Given the description of an element on the screen output the (x, y) to click on. 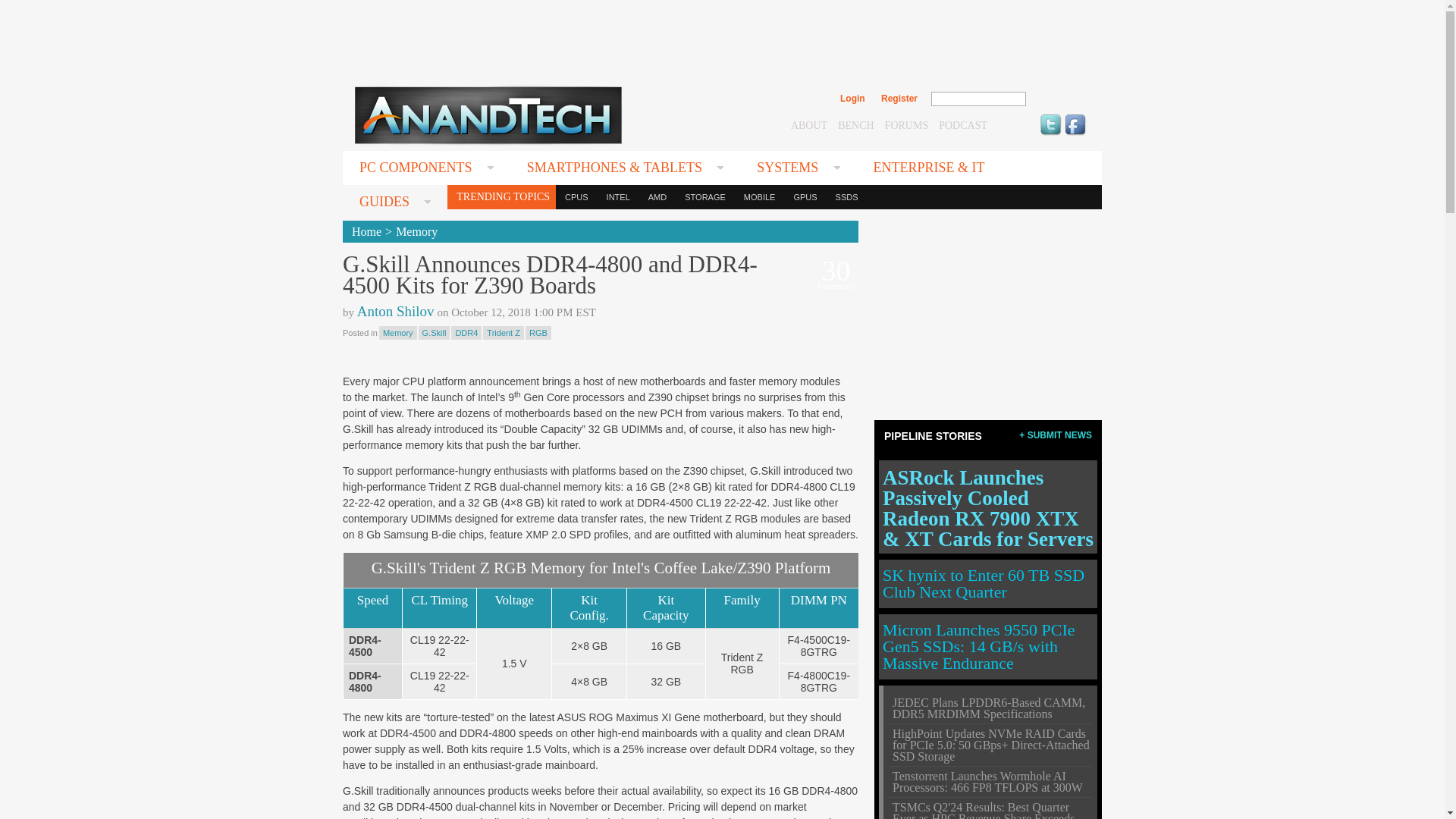
PODCAST (963, 125)
Login (852, 98)
FORUMS (906, 125)
Register (898, 98)
search (1059, 98)
search (1059, 98)
search (1059, 98)
ABOUT (808, 125)
BENCH (855, 125)
